Given the description of an element on the screen output the (x, y) to click on. 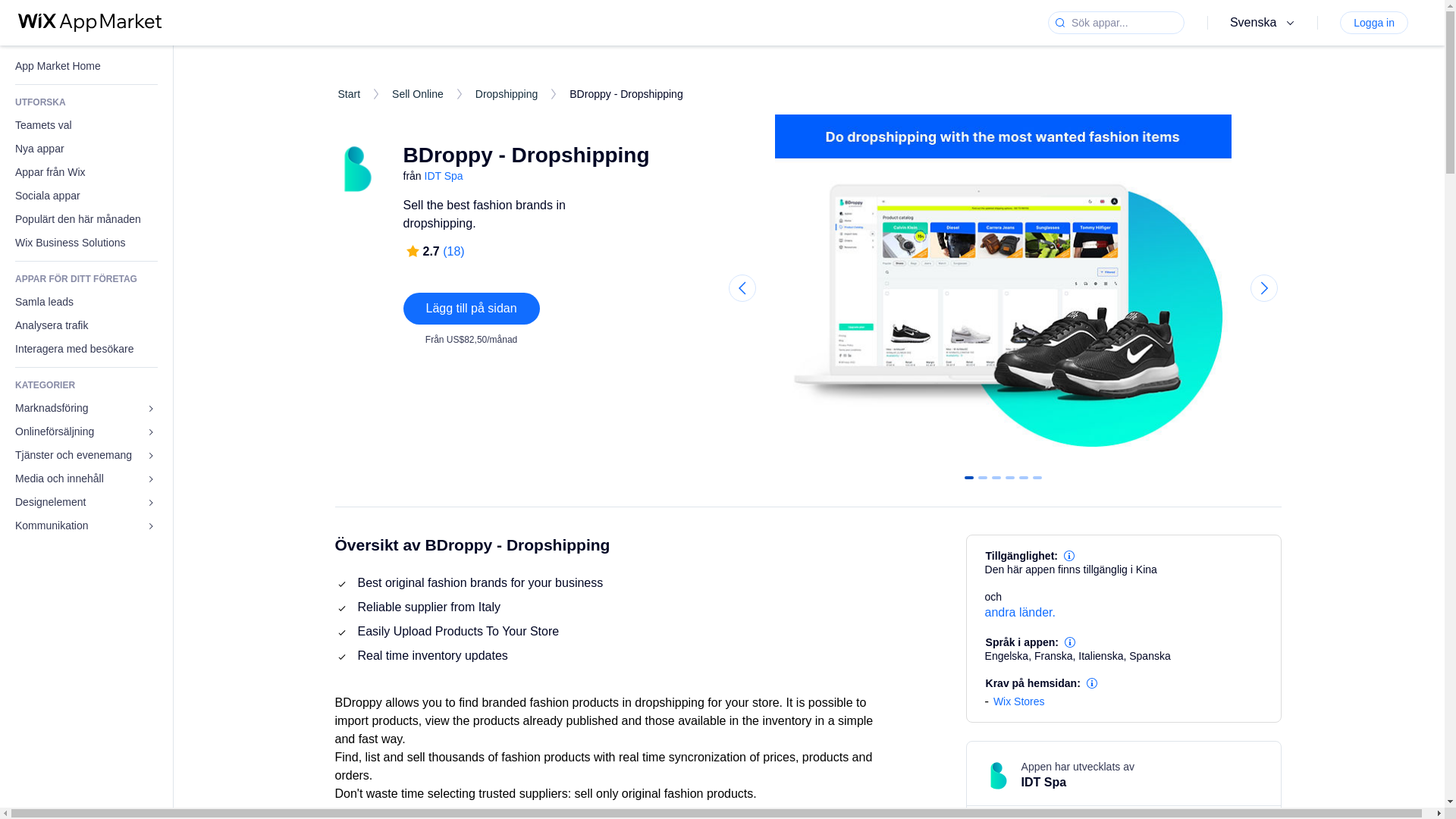
App Market Home (86, 65)
Logga in (1373, 22)
Samla leads (86, 301)
Sociala appar (86, 196)
Svenska (1264, 22)
Teamets val (86, 125)
Wix Business Solutions (86, 242)
Nya appar (86, 148)
Analysera trafik (86, 325)
